Given the description of an element on the screen output the (x, y) to click on. 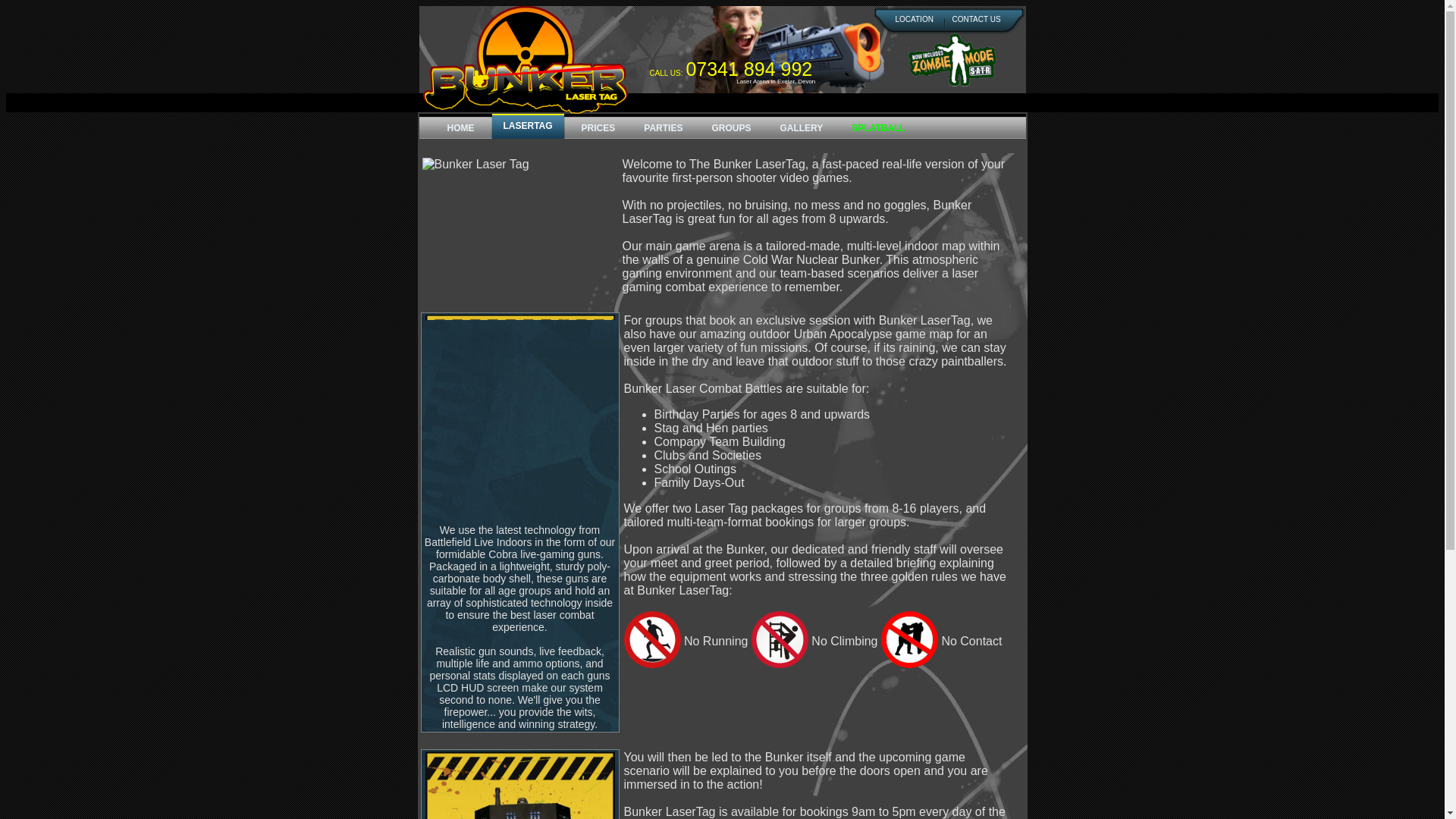
Pictures of Bunker LaserTag (800, 125)
Our Prices (597, 125)
PRICES (597, 125)
GROUPS (730, 125)
NEW! Zombie Attack LaserTag (950, 59)
Maps and Directions to The Bunker, Exeter (914, 19)
HOME (460, 125)
GALLERY (800, 125)
Home (460, 125)
No Physical Contact (908, 639)
About Bunker LaserTag (527, 125)
No Running (651, 639)
PARTIES (662, 125)
Bunker LaserTag in Exeter, Devon (525, 59)
